Given the description of an element on the screen output the (x, y) to click on. 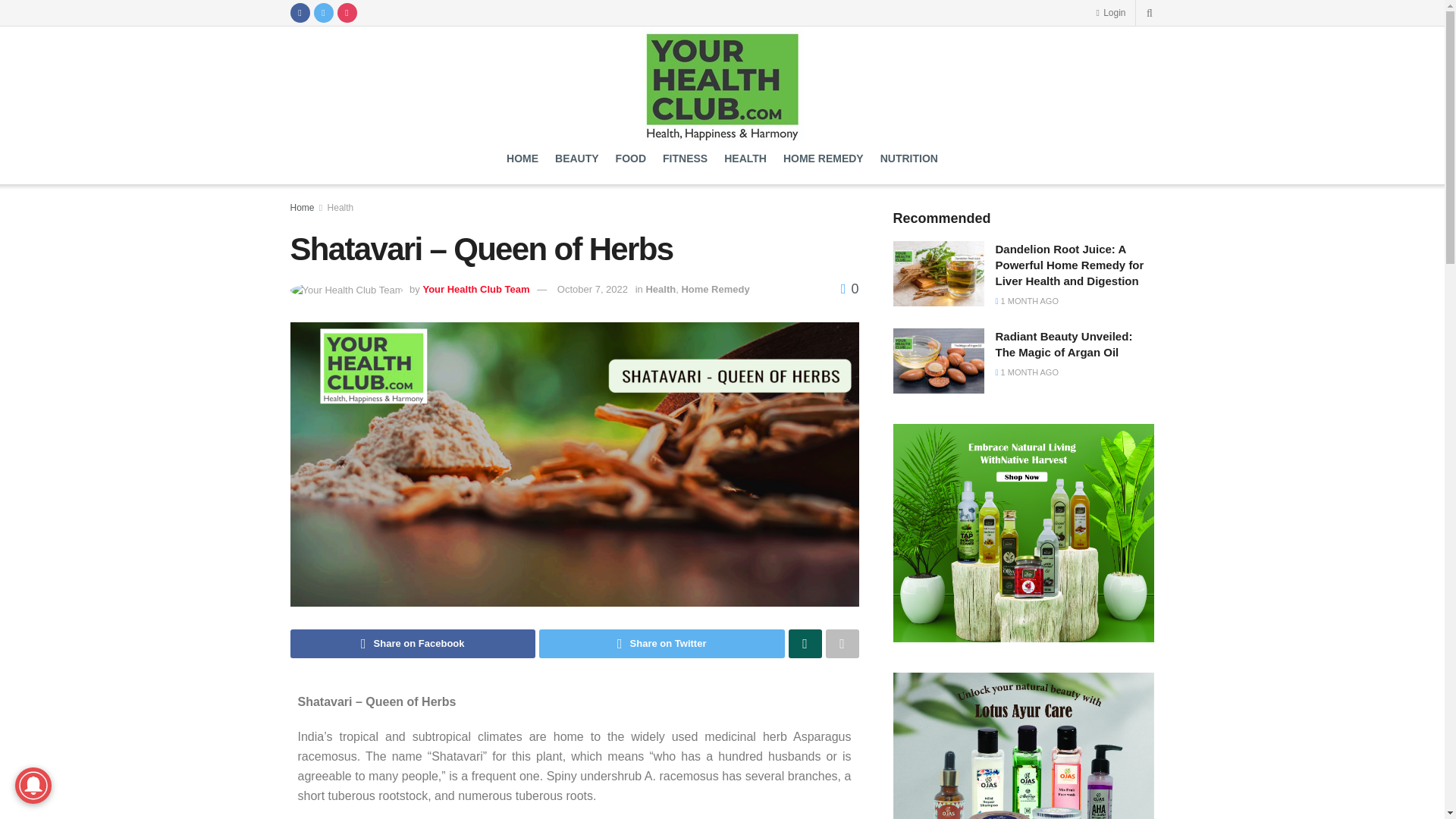
Login (1110, 12)
Your Health Club Team (475, 288)
Home (301, 207)
Health (340, 207)
Share on Twitter (661, 643)
NUTRITION (908, 158)
0 (850, 288)
Share on Facebook (412, 643)
October 7, 2022 (592, 288)
Home Remedy (715, 288)
